Given the description of an element on the screen output the (x, y) to click on. 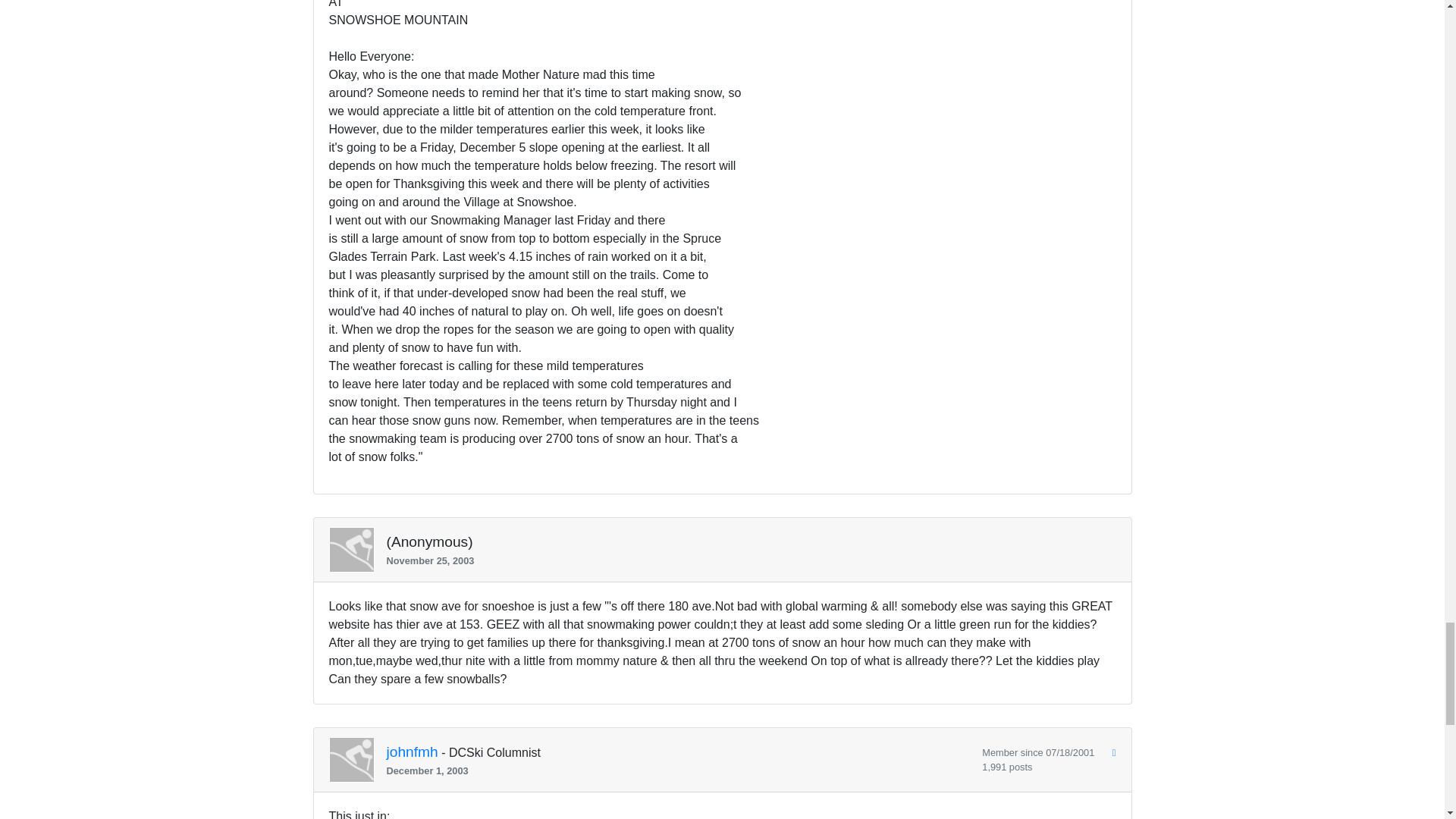
November 25, 2003 at 06:50 pm (745, 560)
